Given the description of an element on the screen output the (x, y) to click on. 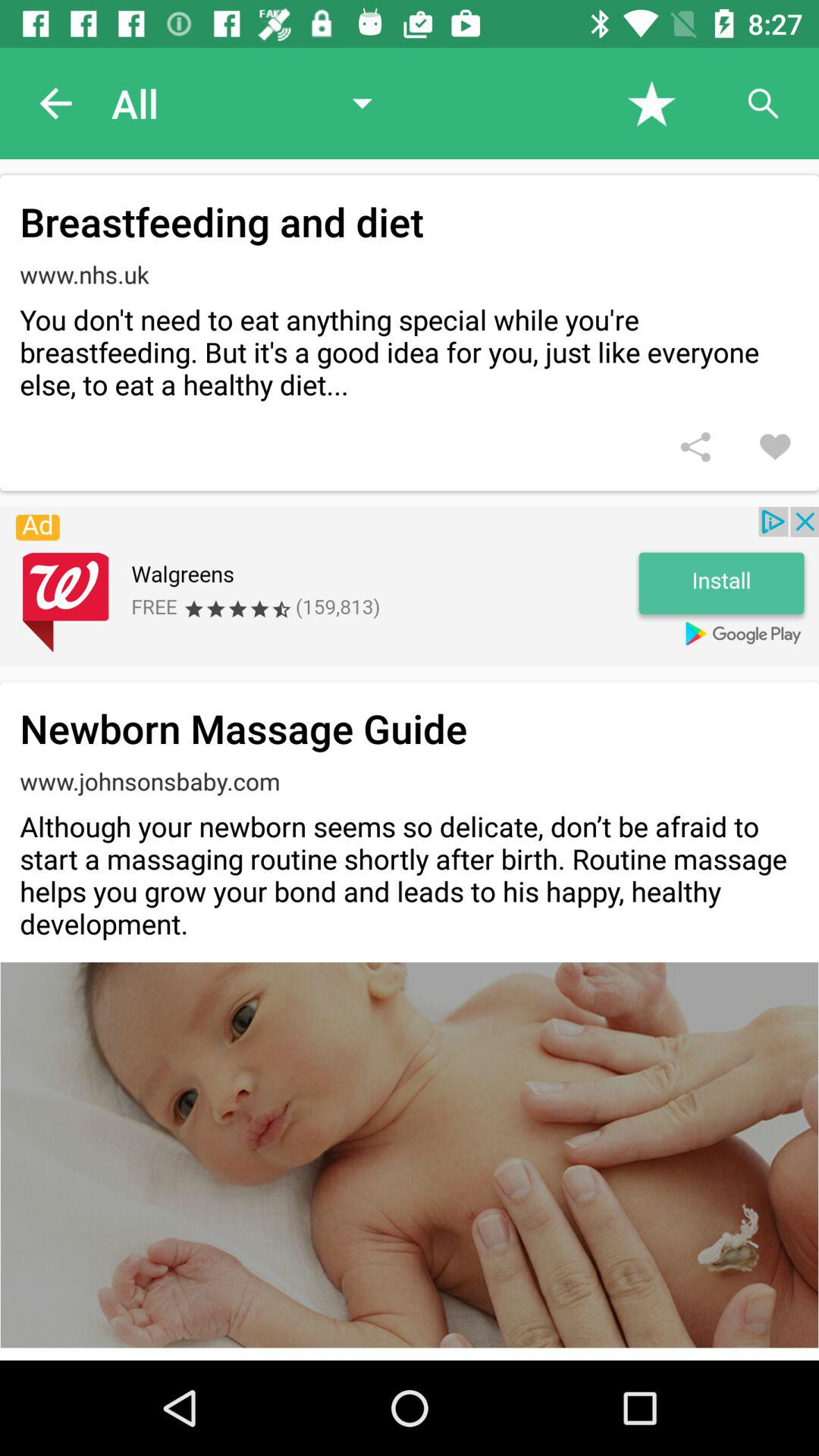
add to favorites (775, 446)
